Given the description of an element on the screen output the (x, y) to click on. 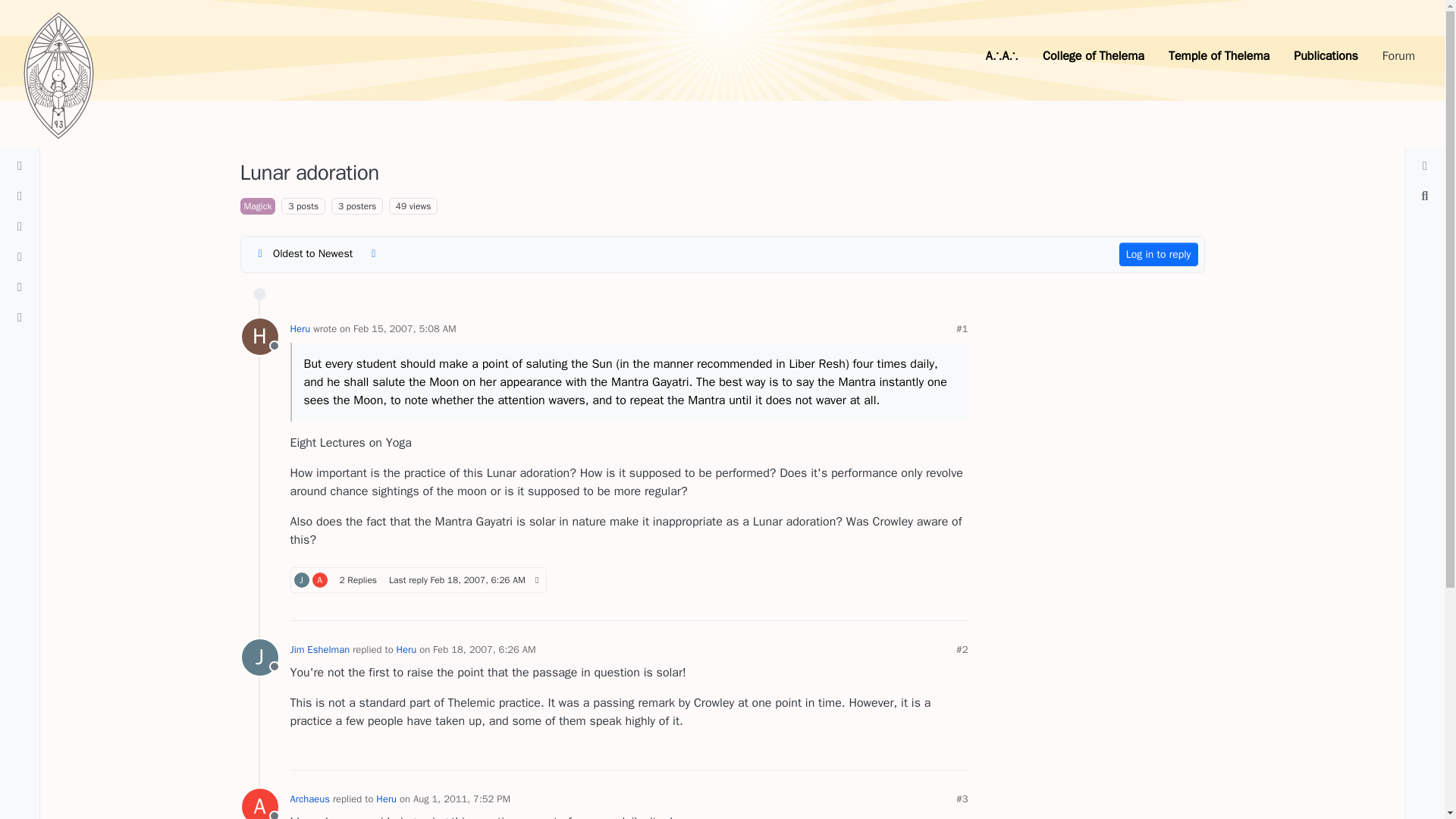
Jim Eshelman (417, 579)
Feb 18, 2007, 6:26 AM (301, 580)
Magick (477, 580)
Archaeus (259, 657)
49 (257, 206)
College of Thelema (320, 580)
Feb 15, 2007, 5:08 AM (401, 205)
Heru (1093, 55)
Temple of Thelema (405, 328)
Publications (299, 328)
Heru (1218, 55)
3 (1325, 55)
3 (259, 336)
